Given the description of an element on the screen output the (x, y) to click on. 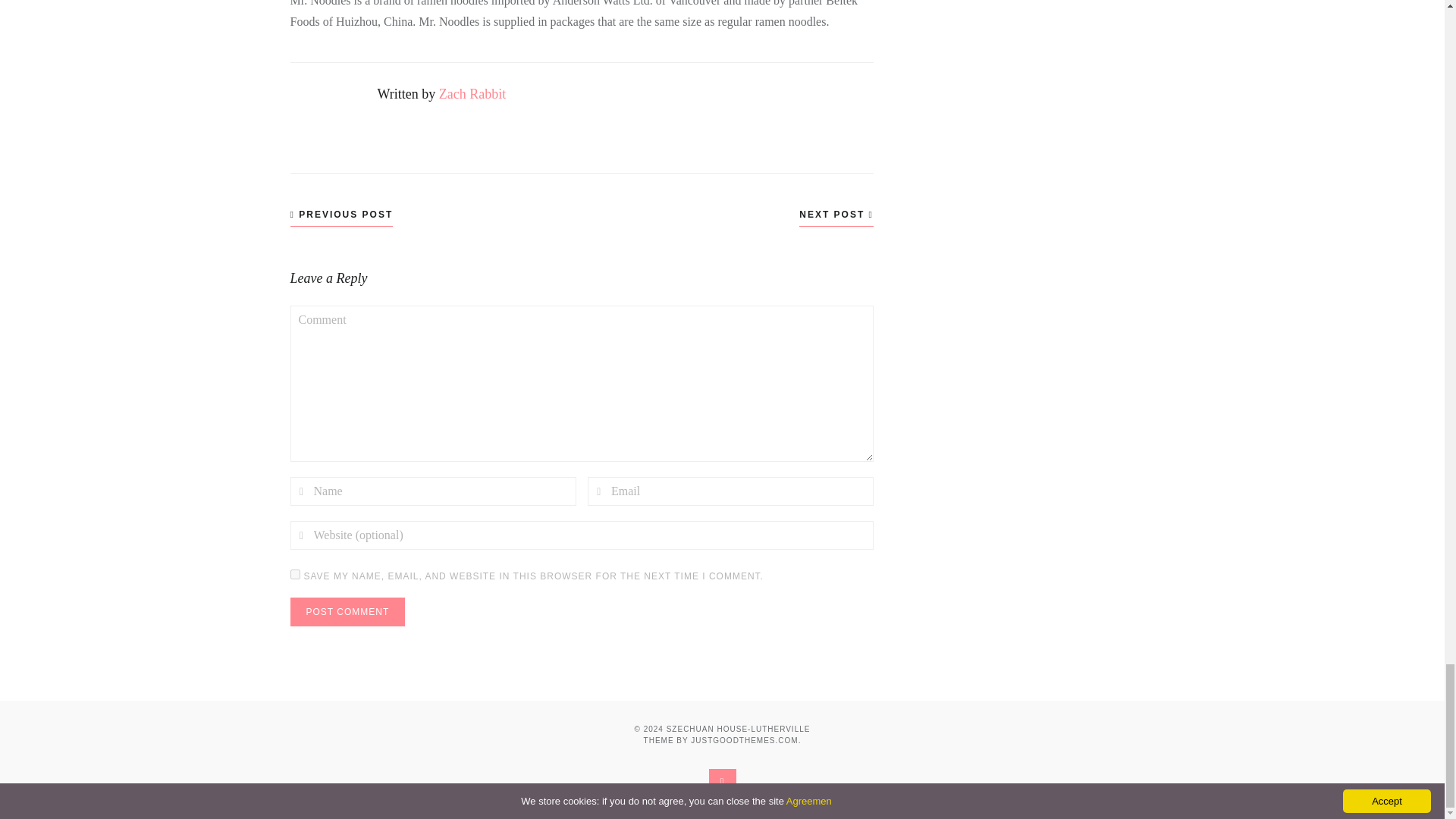
yes (294, 574)
Post Comment (346, 611)
